Given the description of an element on the screen output the (x, y) to click on. 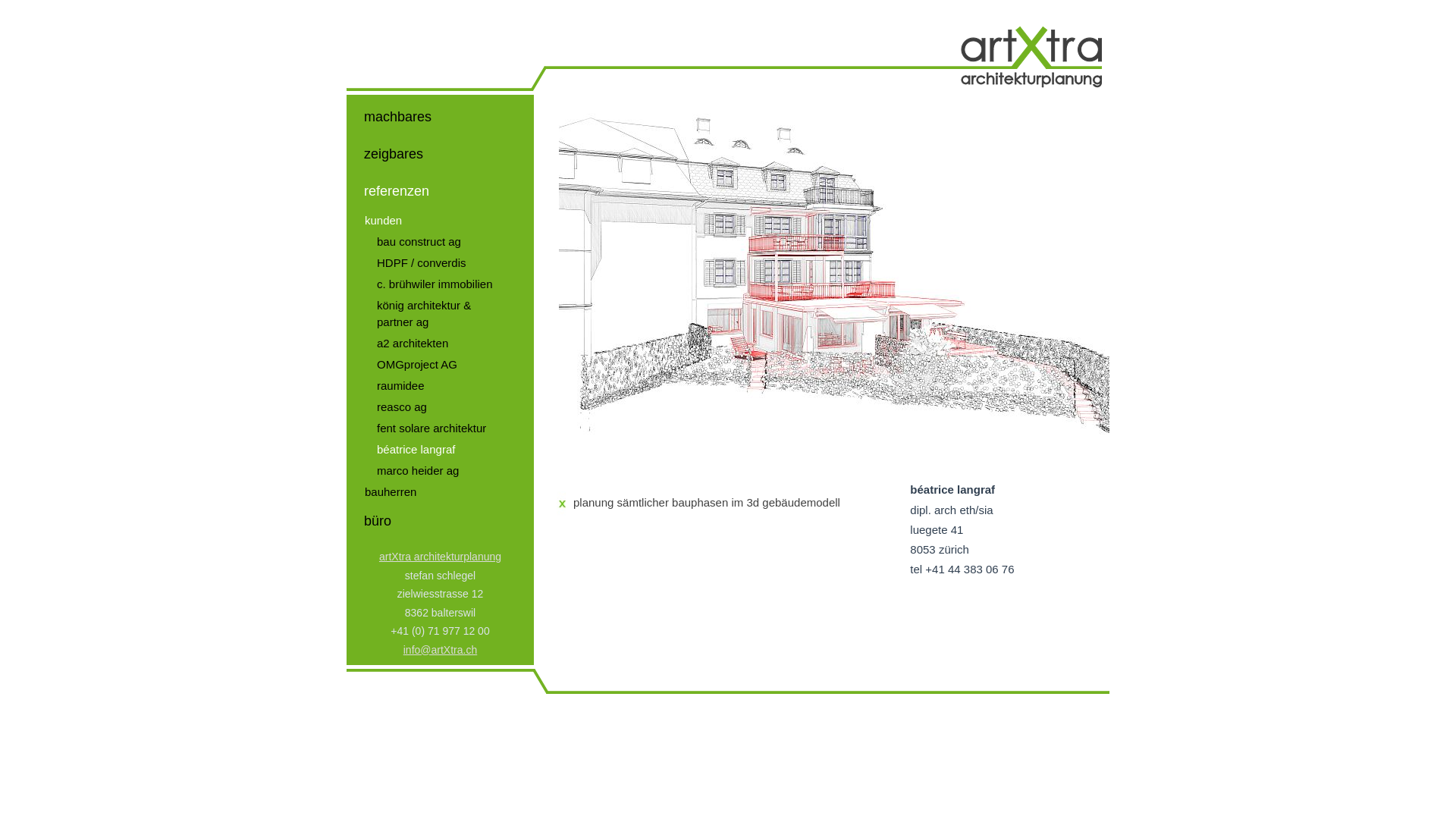
a2 architekten Element type: text (439, 343)
referenzen Element type: text (439, 191)
artXtra architekturplanung Element type: text (440, 556)
marco heider ag Element type: text (439, 470)
OMGproject AG Element type: text (439, 364)
machbares Element type: text (439, 116)
raumidee Element type: text (439, 385)
bauherren Element type: text (439, 491)
bau construct ag Element type: text (439, 241)
kunden Element type: text (439, 220)
HDPF / converdis Element type: text (439, 262)
reasco ag Element type: text (439, 406)
fent solare architektur Element type: text (439, 428)
zeigbares Element type: text (439, 154)
info@artXtra.ch Element type: text (439, 649)
